Given the description of an element on the screen output the (x, y) to click on. 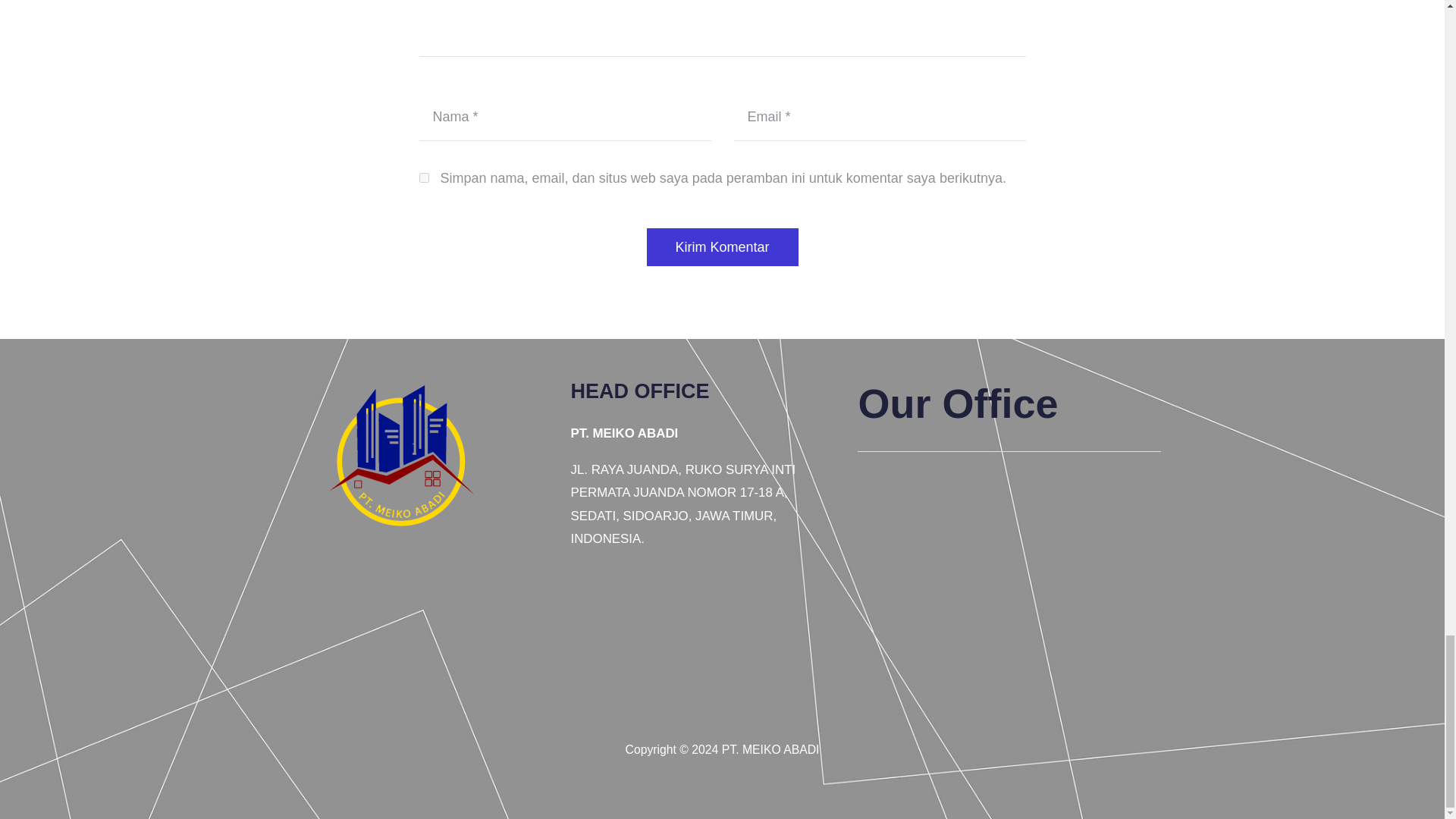
yes (423, 177)
Kirim Komentar (721, 247)
